Given the description of an element on the screen output the (x, y) to click on. 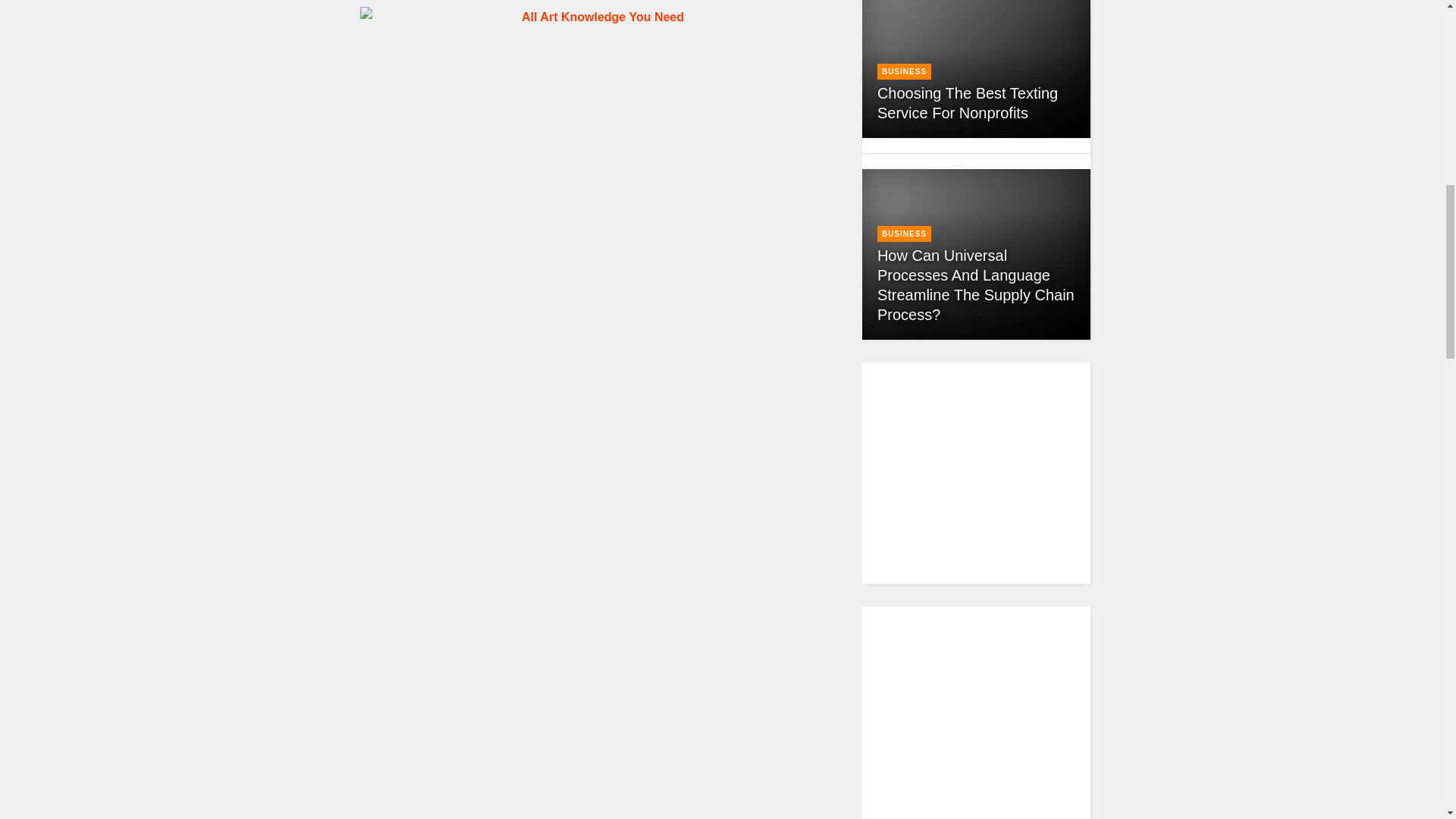
Choosing The Best Texting Service For Nonprofits (967, 103)
